Given the description of an element on the screen output the (x, y) to click on. 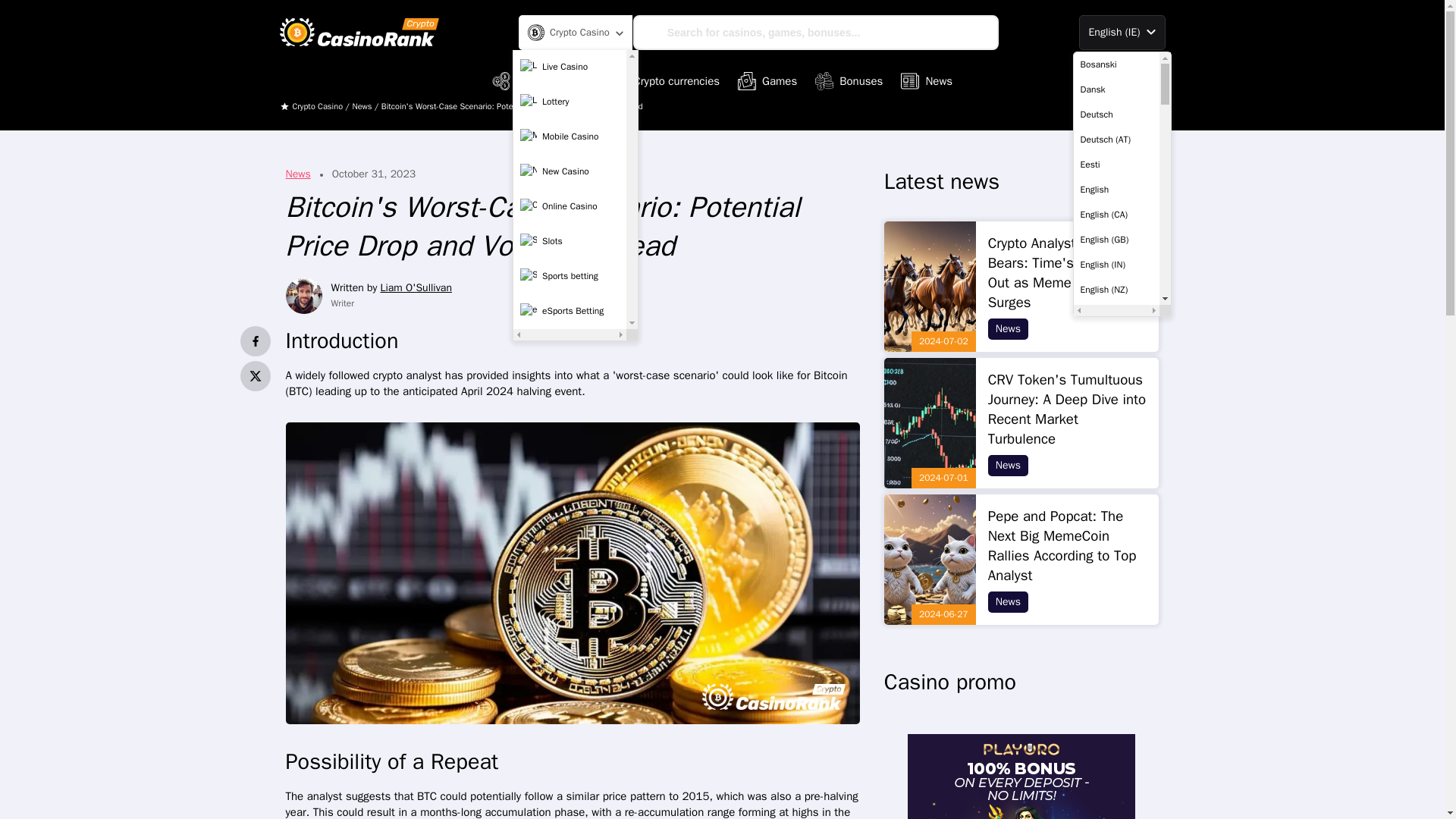
eSports Betting (569, 311)
Hrvatski (1116, 664)
Lottery (569, 102)
Italiano (1116, 714)
Dansk (1116, 89)
Online Casino (569, 206)
Live Casino (569, 67)
Magyar (1116, 790)
English (1116, 189)
Indonesia (1116, 690)
New Casino (569, 172)
Bosanski (1116, 63)
Slots (569, 241)
Deutsch (1116, 113)
Sports betting (569, 276)
